Given the description of an element on the screen output the (x, y) to click on. 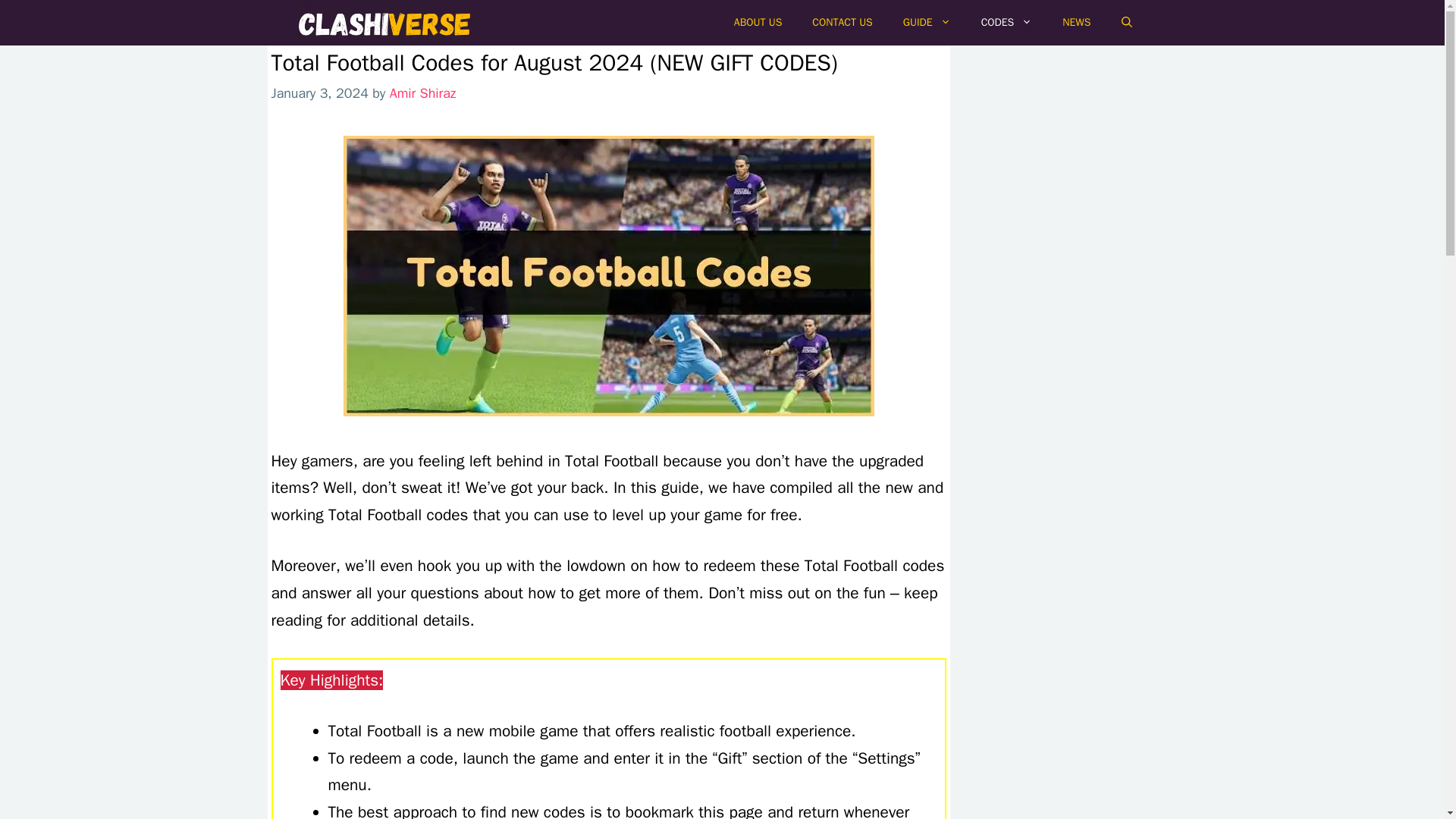
CONTACT US (841, 22)
GUIDE (927, 22)
View all posts by Amir Shiraz (423, 93)
NEWS (1075, 22)
CODES (1007, 22)
ABOUT US (758, 22)
Amir Shiraz (423, 93)
